Given the description of an element on the screen output the (x, y) to click on. 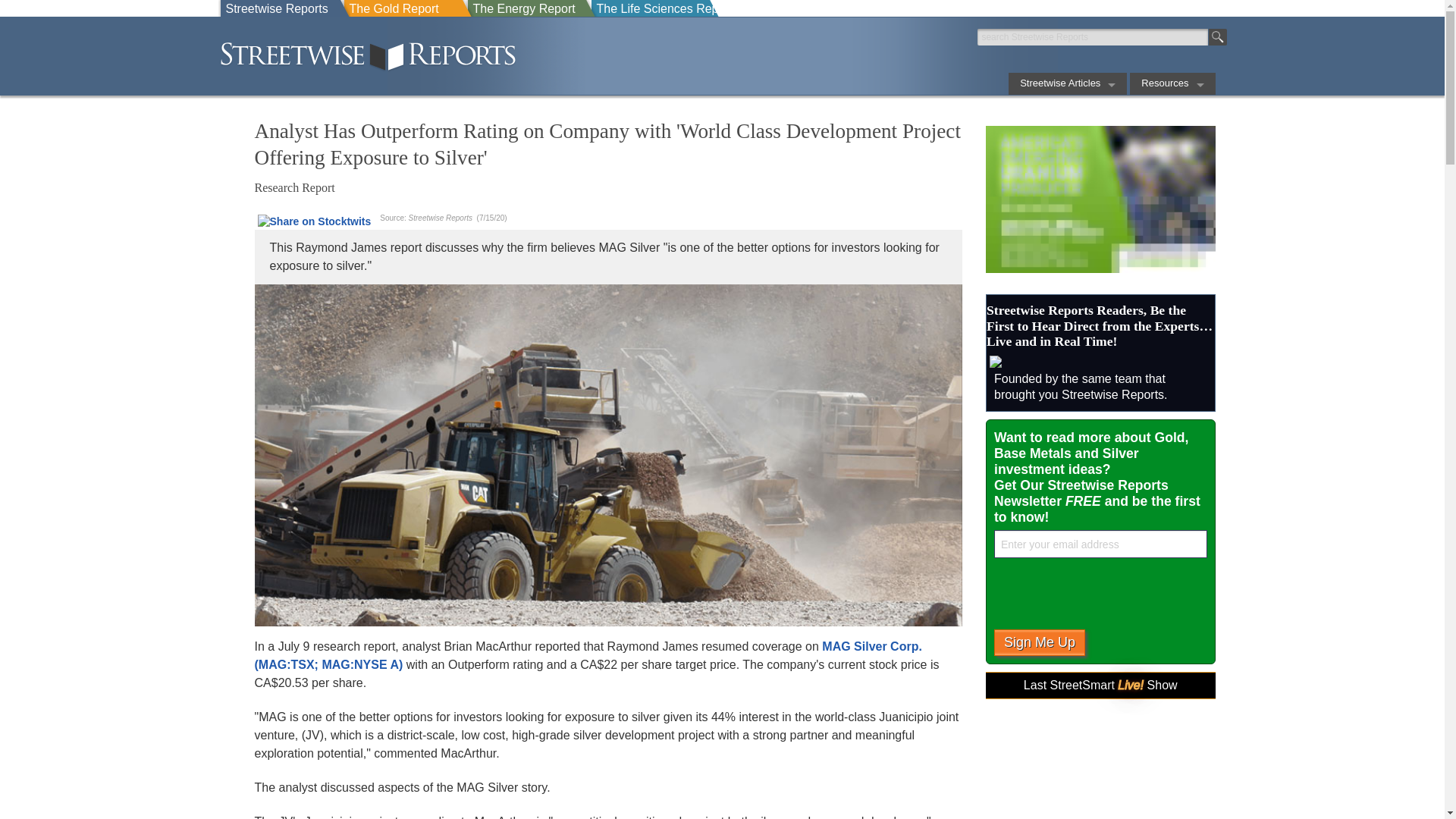
Streetwise Articles (1067, 83)
Search (1217, 36)
Sign Me Up (1039, 642)
